Given the description of an element on the screen output the (x, y) to click on. 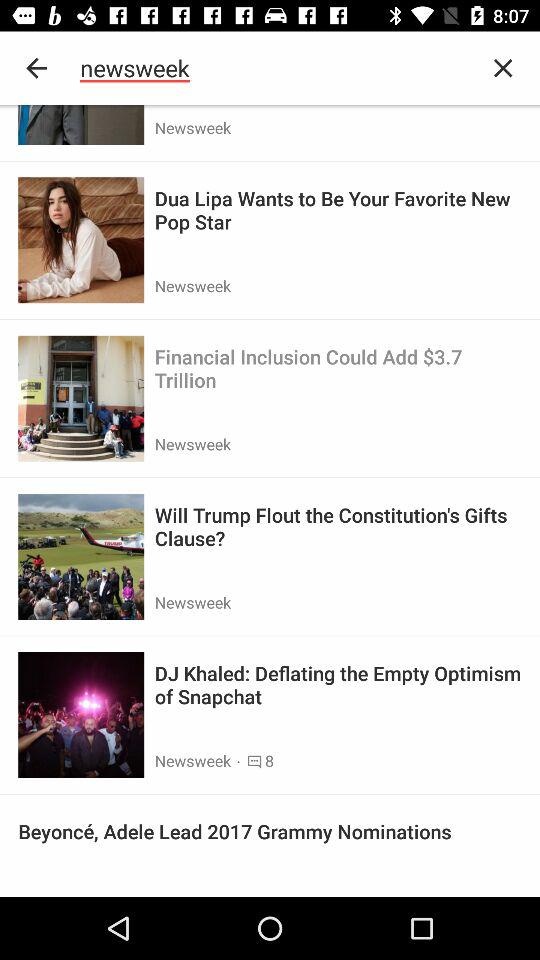
select the 2nd image from top side of the web page (80, 239)
tap on the last image present at the bottom right corner (80, 714)
